Given the description of an element on the screen output the (x, y) to click on. 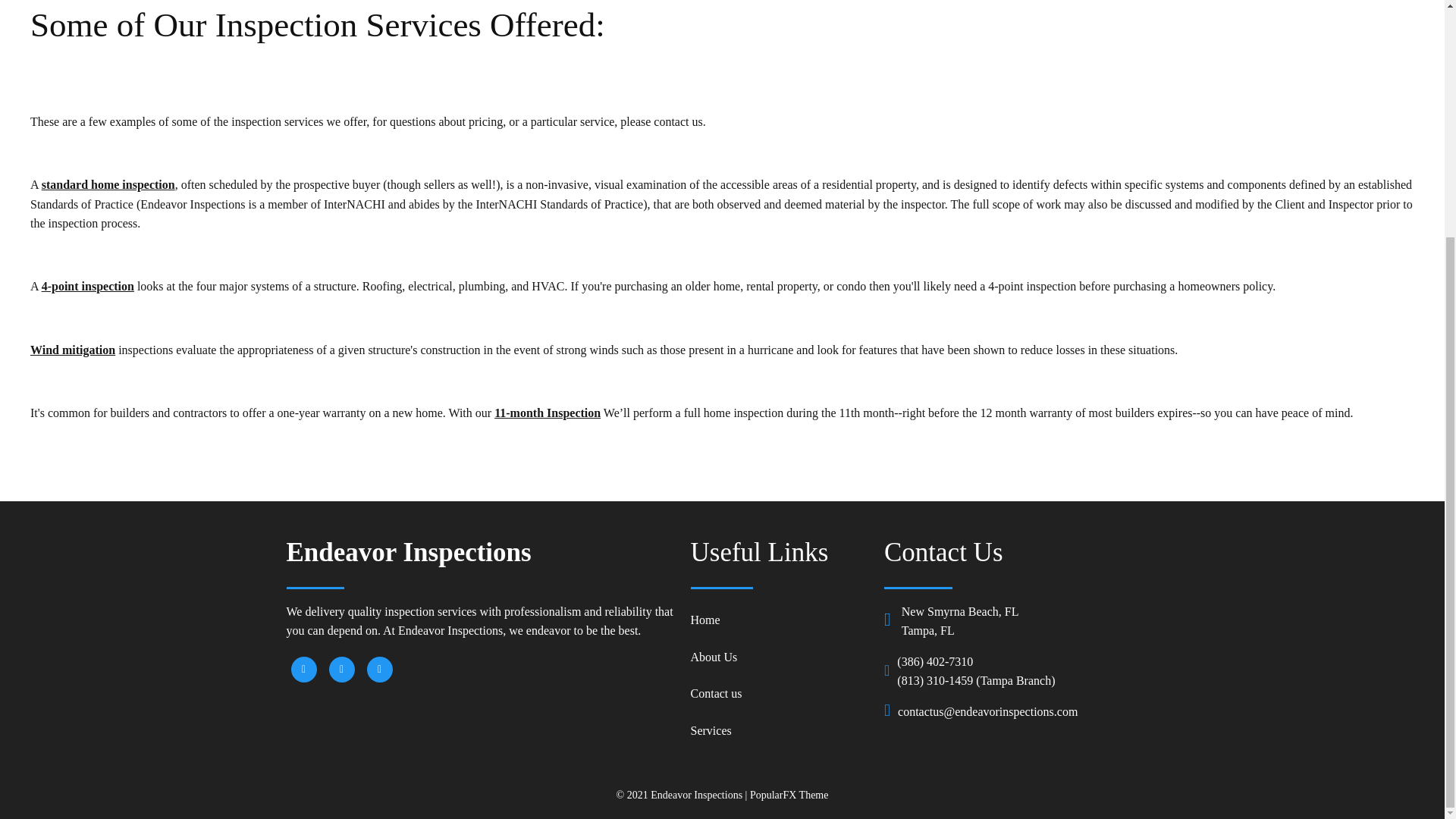
Contact us (779, 693)
About Us (779, 656)
Services (779, 730)
Home (779, 620)
Endeavor Inspections (480, 552)
PopularFX Theme (788, 794)
